Given the description of an element on the screen output the (x, y) to click on. 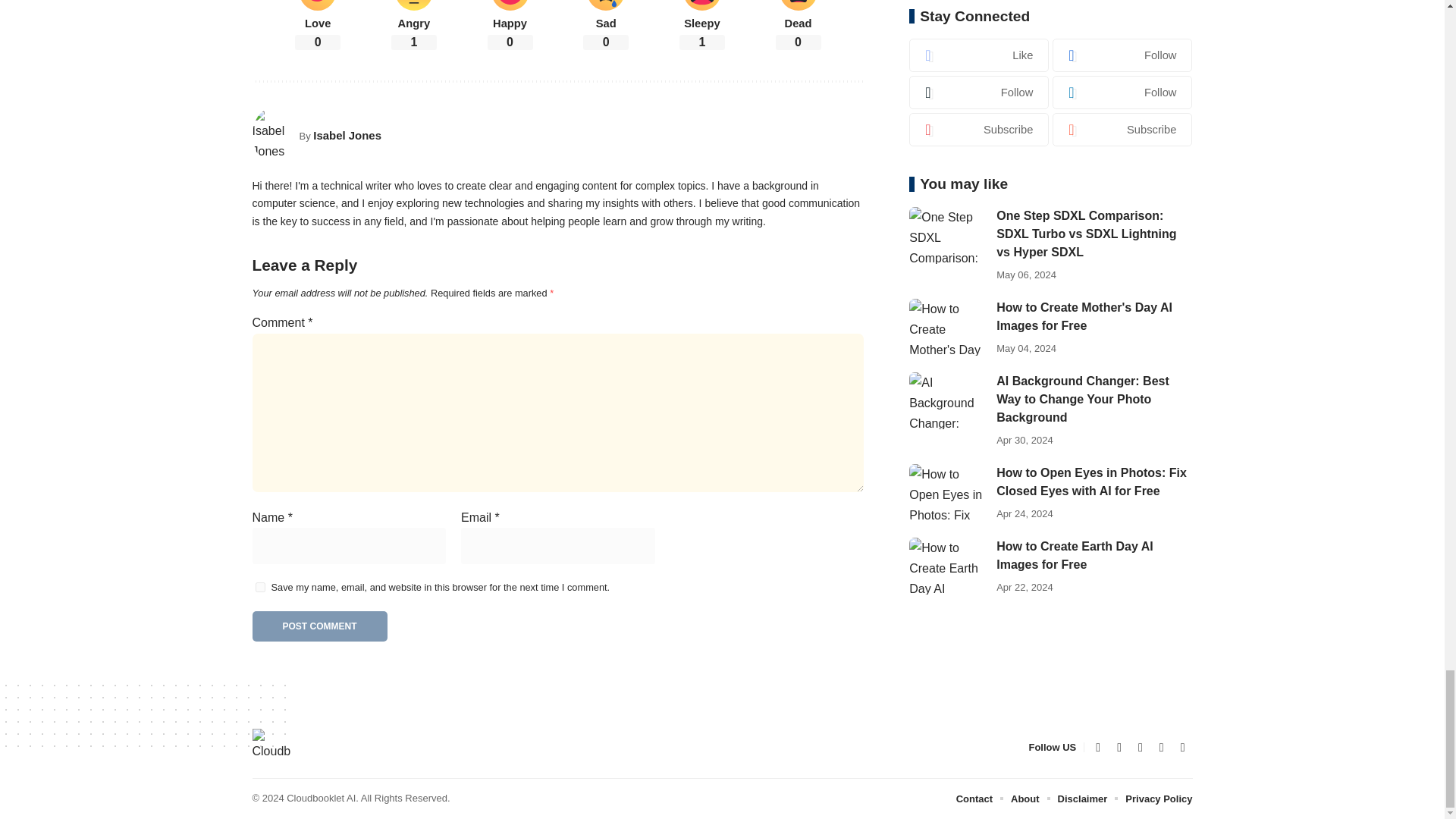
Cloudbooklet AI (270, 747)
yes (259, 587)
Post Comment (319, 625)
